Given the description of an element on the screen output the (x, y) to click on. 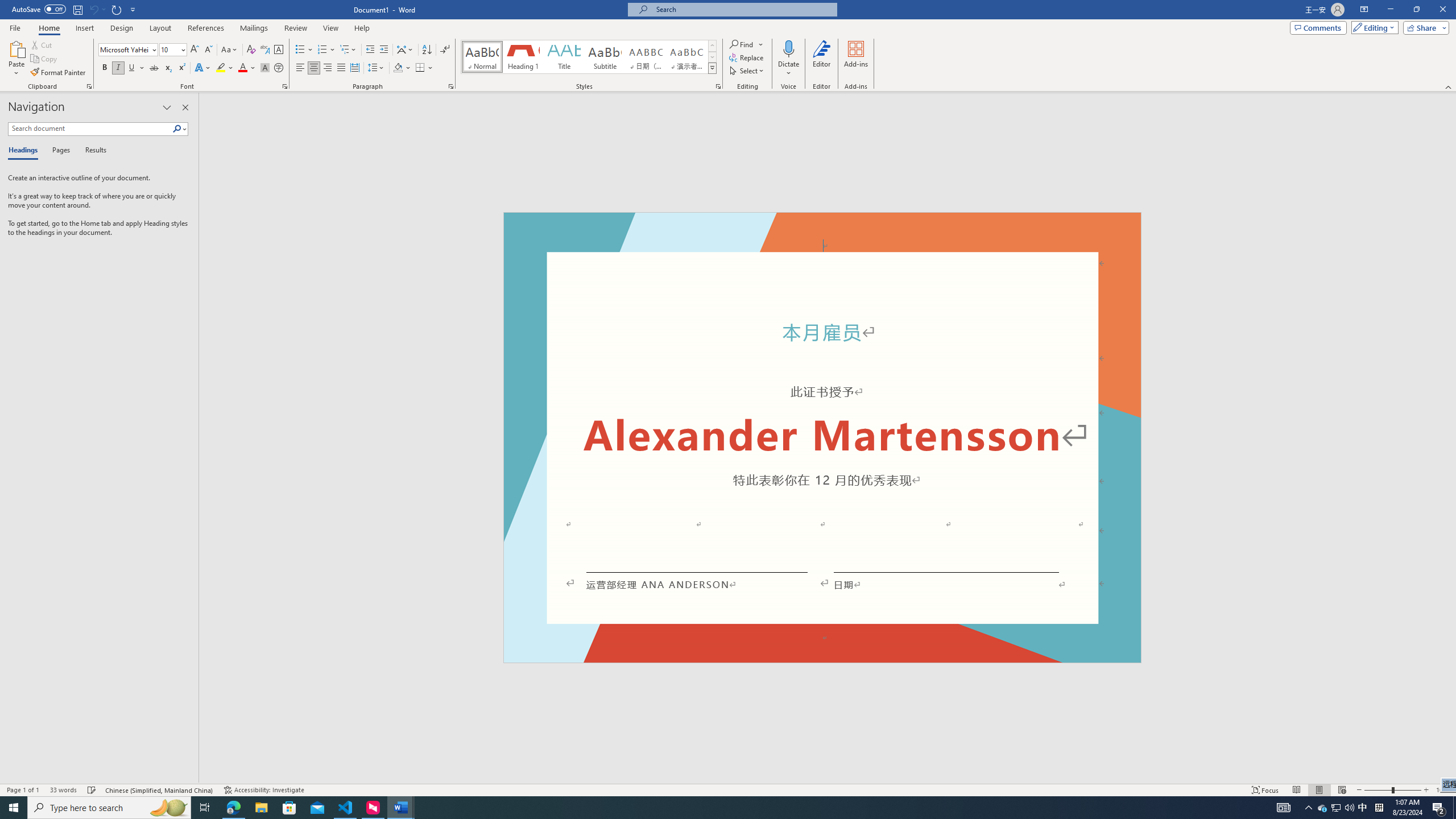
Font Color Red (241, 67)
